Given the description of an element on the screen output the (x, y) to click on. 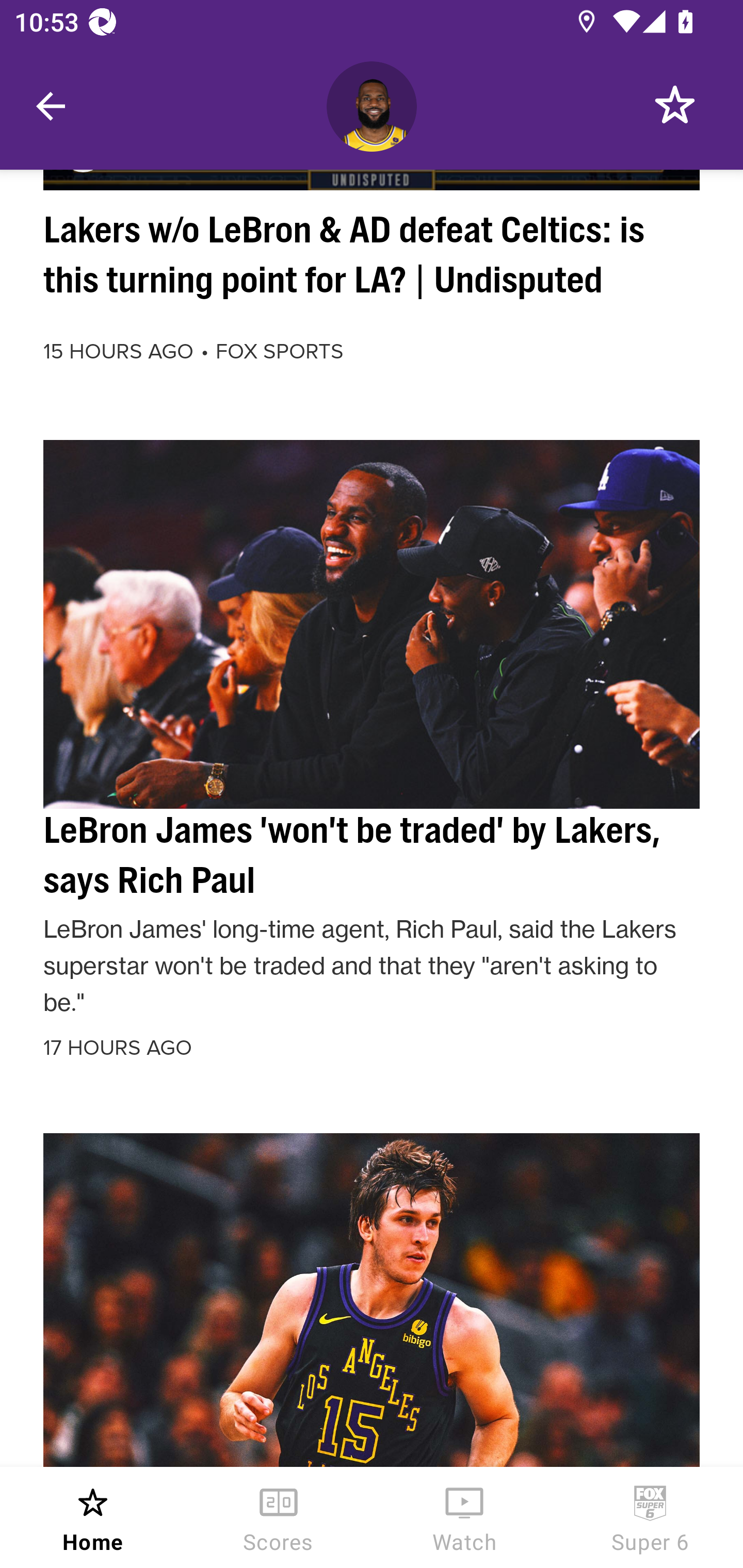
Navigate up (50, 106)
Scores (278, 1517)
Watch (464, 1517)
Super 6 (650, 1517)
